Given the description of an element on the screen output the (x, y) to click on. 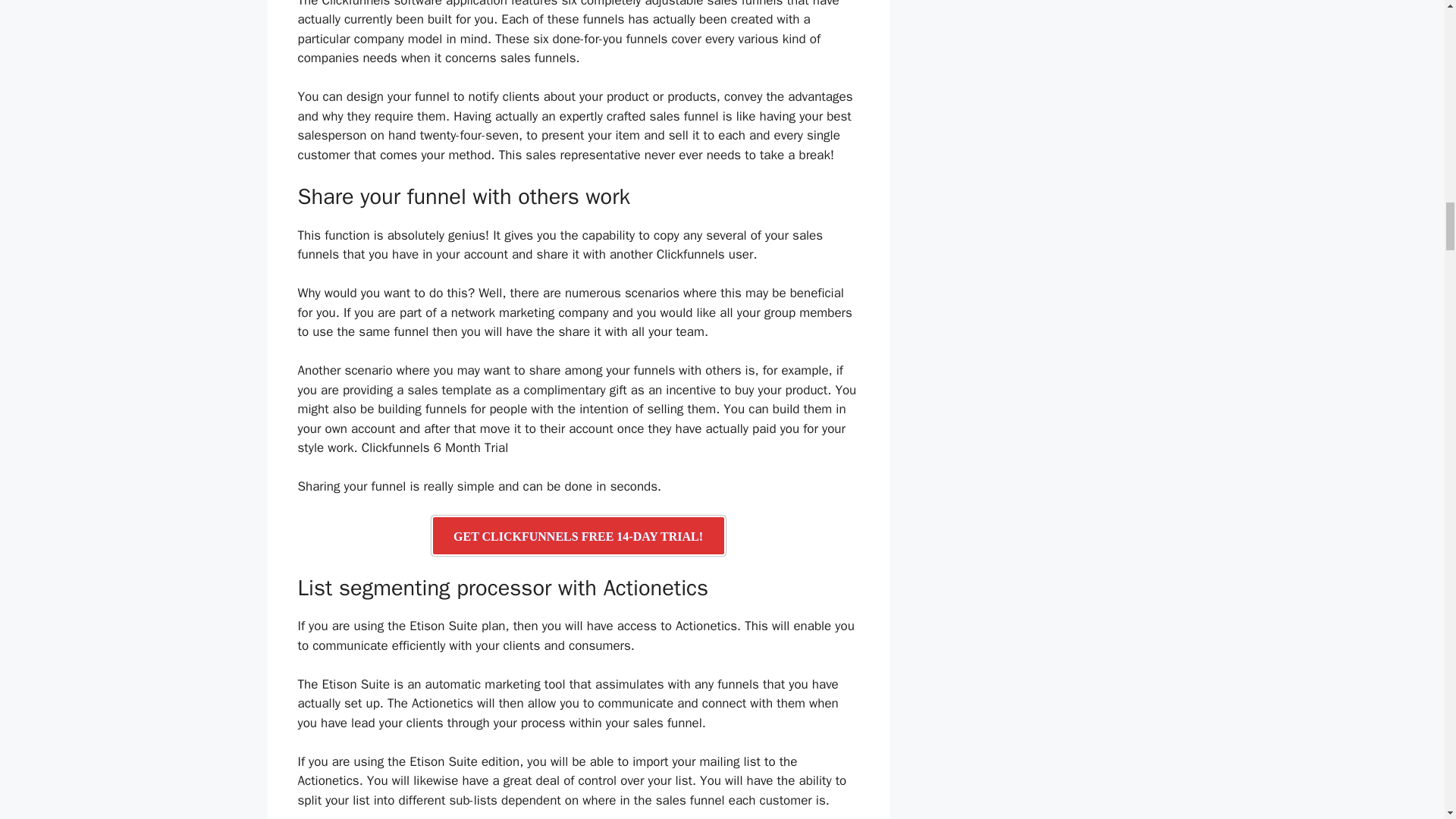
GET CLICKFUNNELS FREE 14-DAY TRIAL! (577, 535)
